Given the description of an element on the screen output the (x, y) to click on. 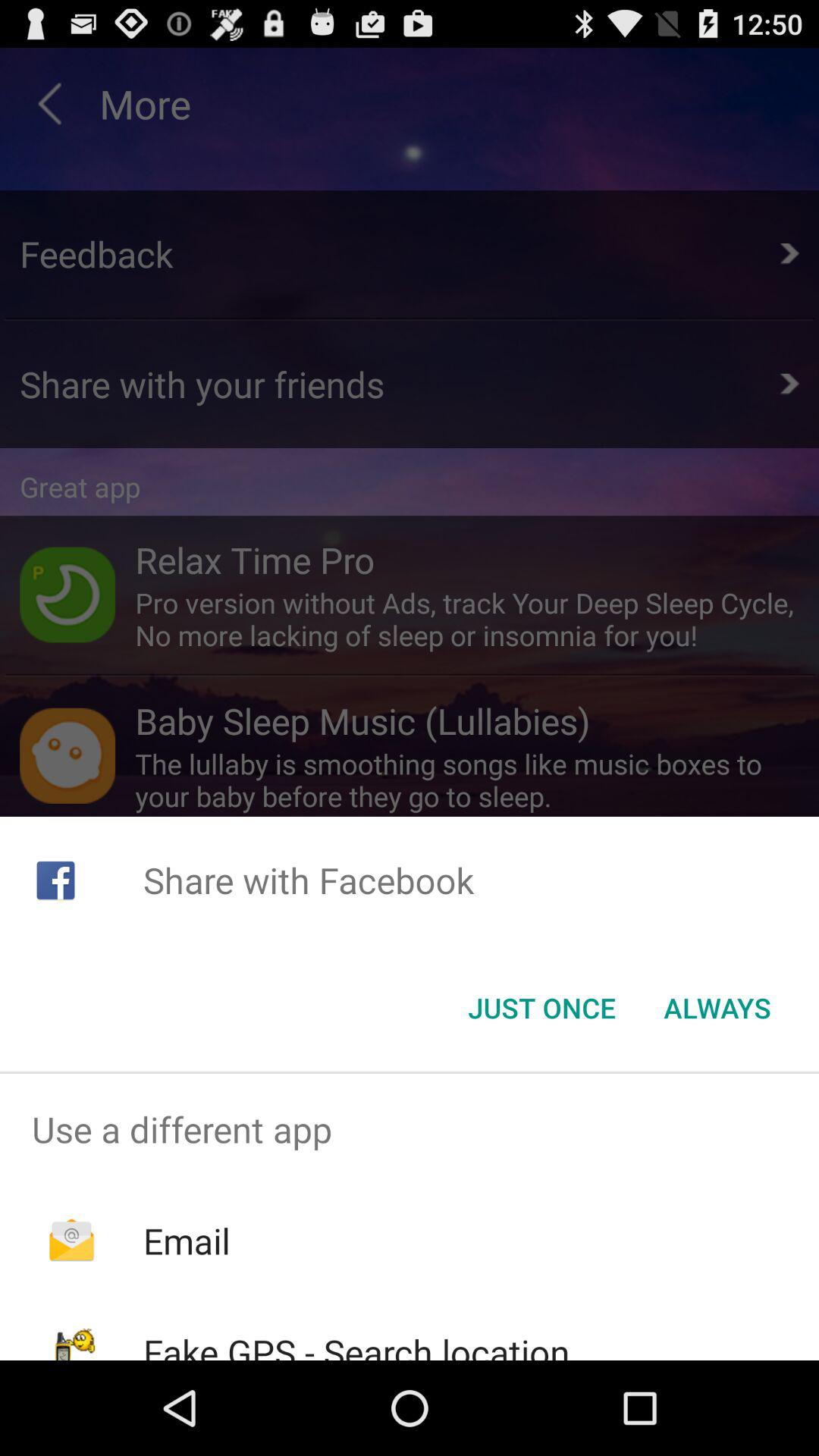
click the always button (717, 1007)
